Given the description of an element on the screen output the (x, y) to click on. 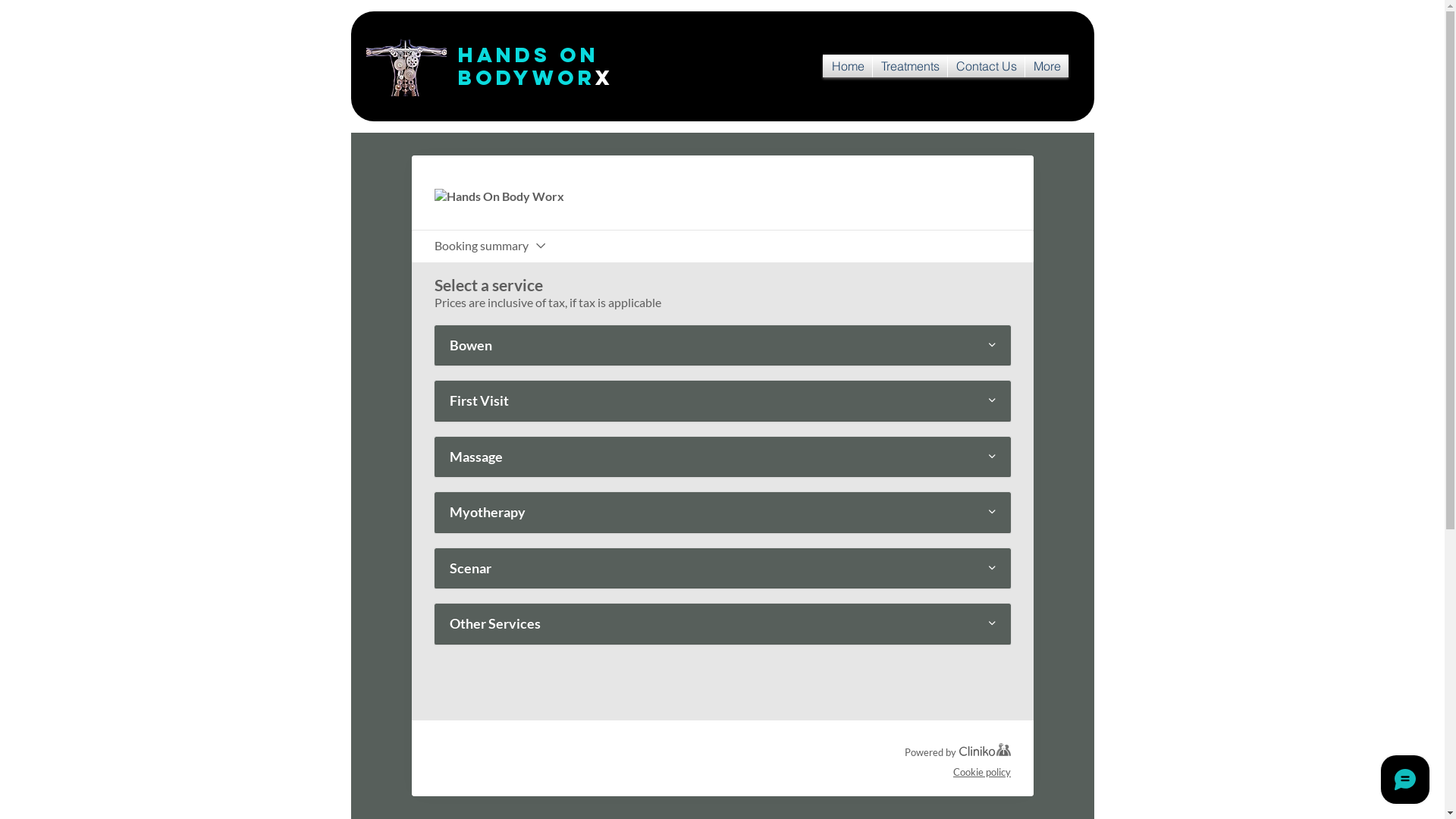
Facebook Like Element type: hover (715, 65)
Treatments Element type: text (909, 65)
Contact Us Element type: text (985, 65)
Home Element type: text (846, 65)
